Given the description of an element on the screen output the (x, y) to click on. 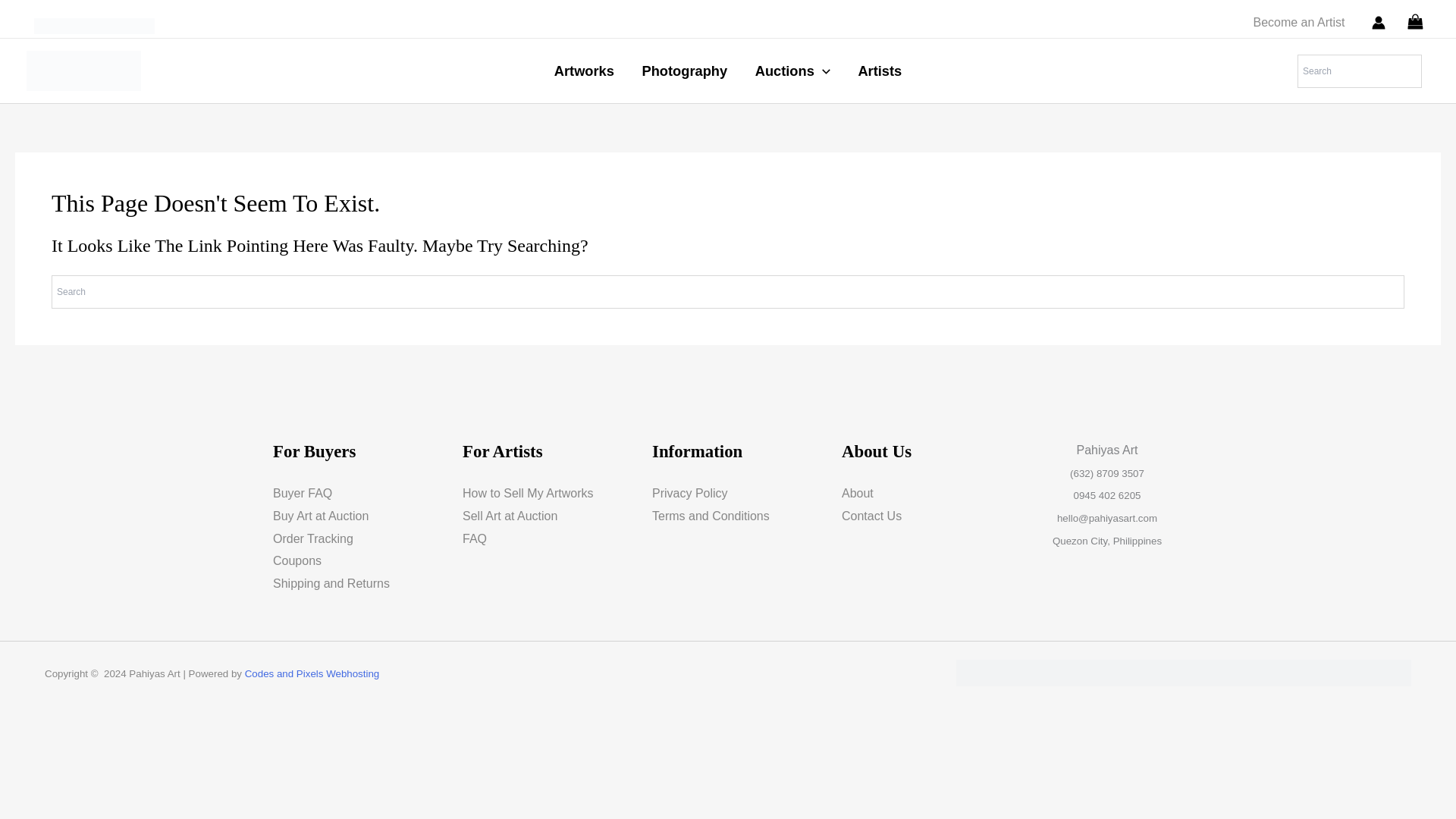
Auctions (792, 70)
Artworks (583, 70)
Become an Artist (1298, 22)
Artists (879, 70)
Photography (684, 70)
